Given the description of an element on the screen output the (x, y) to click on. 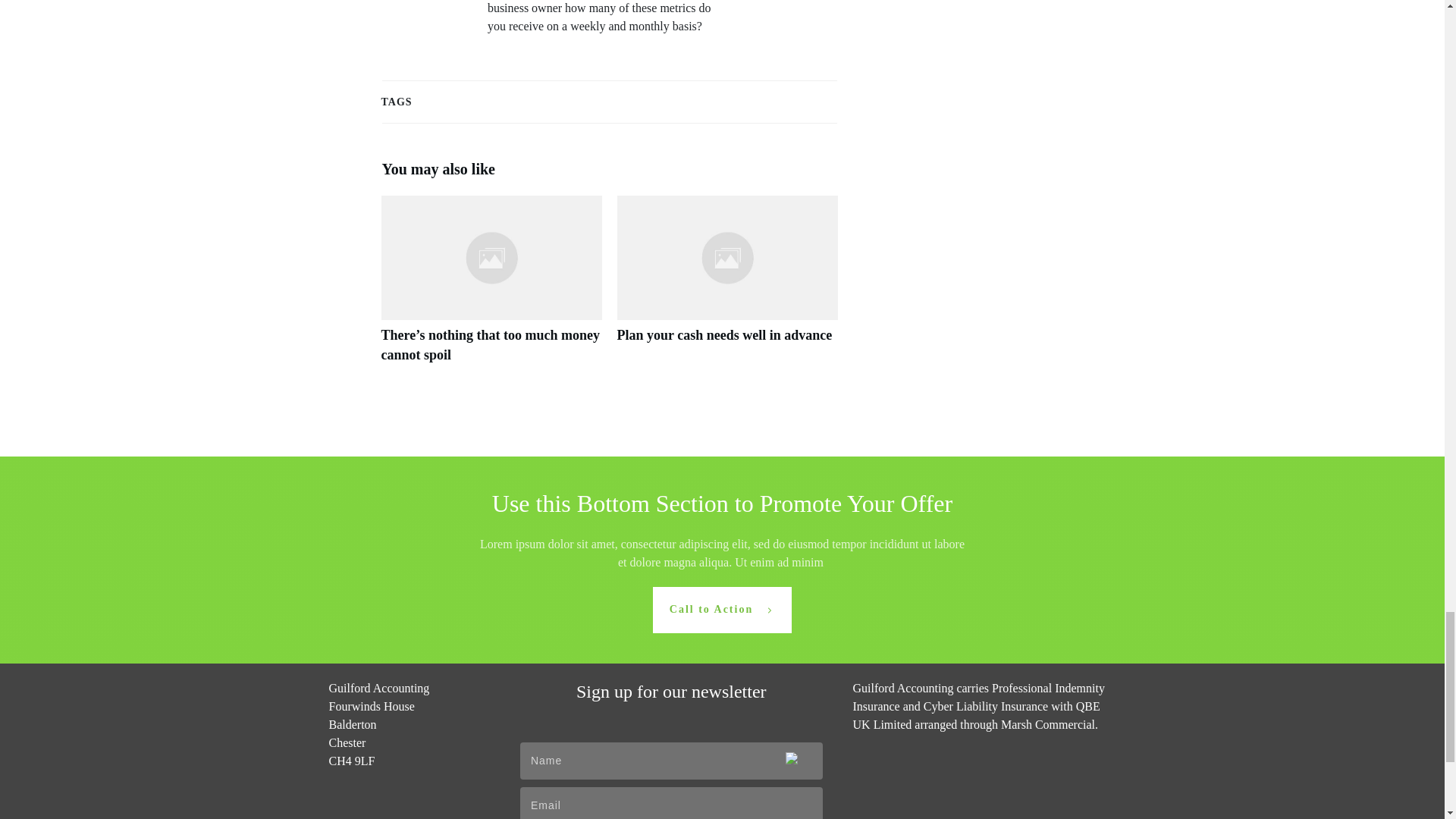
Plan your cash needs well in advance (724, 335)
Plan your cash needs well in advance (724, 335)
Plan your cash needs well in advance (727, 287)
